Given the description of an element on the screen output the (x, y) to click on. 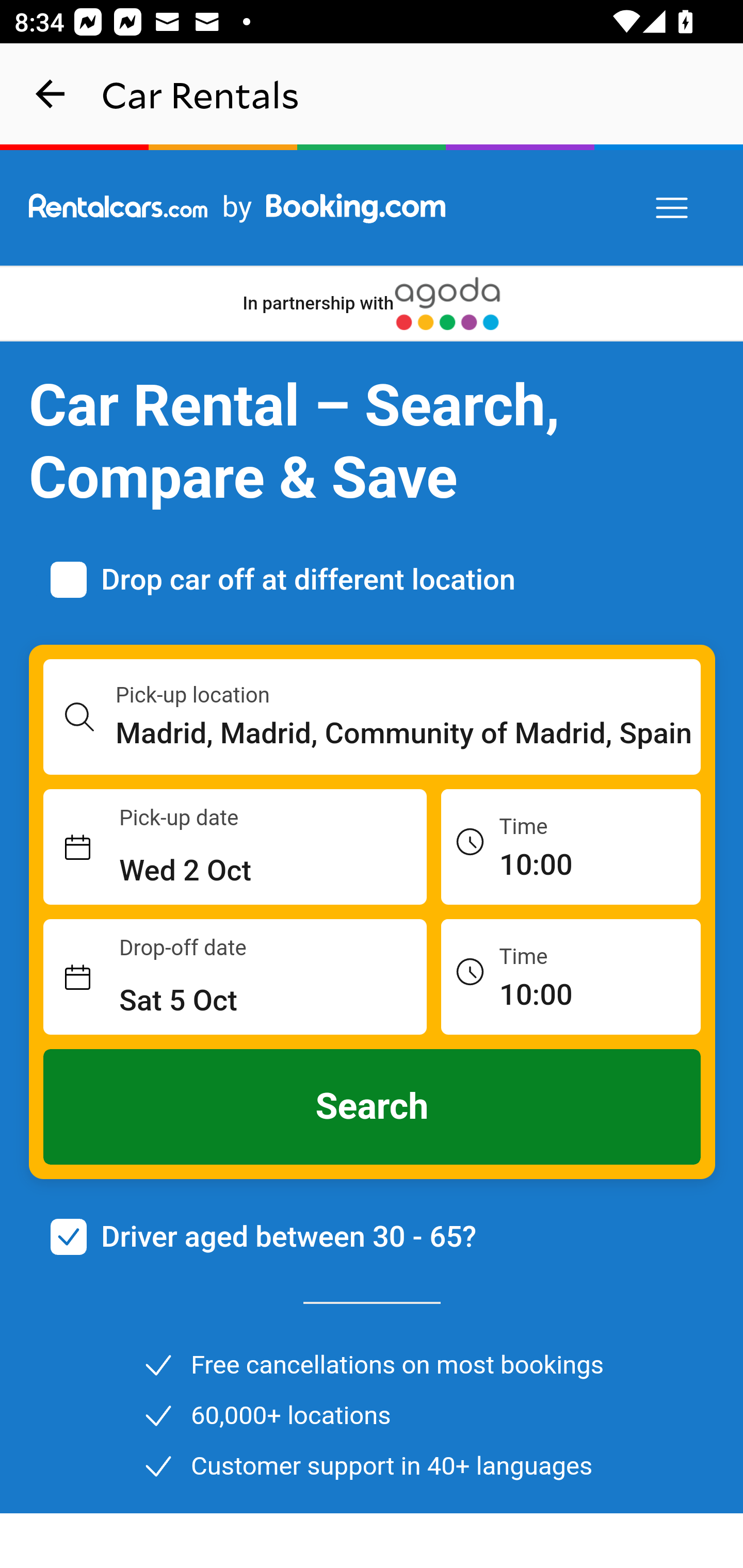
navigation_button (50, 93)
Menu (672, 208)
Madrid, Madrid, Community of Madrid, Spain (408, 733)
Pick-up date Wed 2 Oct (235, 847)
10:00 (571, 845)
Drop-off date Sat 5 Oct (235, 977)
10:00 (571, 975)
Search (372, 1106)
